Given the description of an element on the screen output the (x, y) to click on. 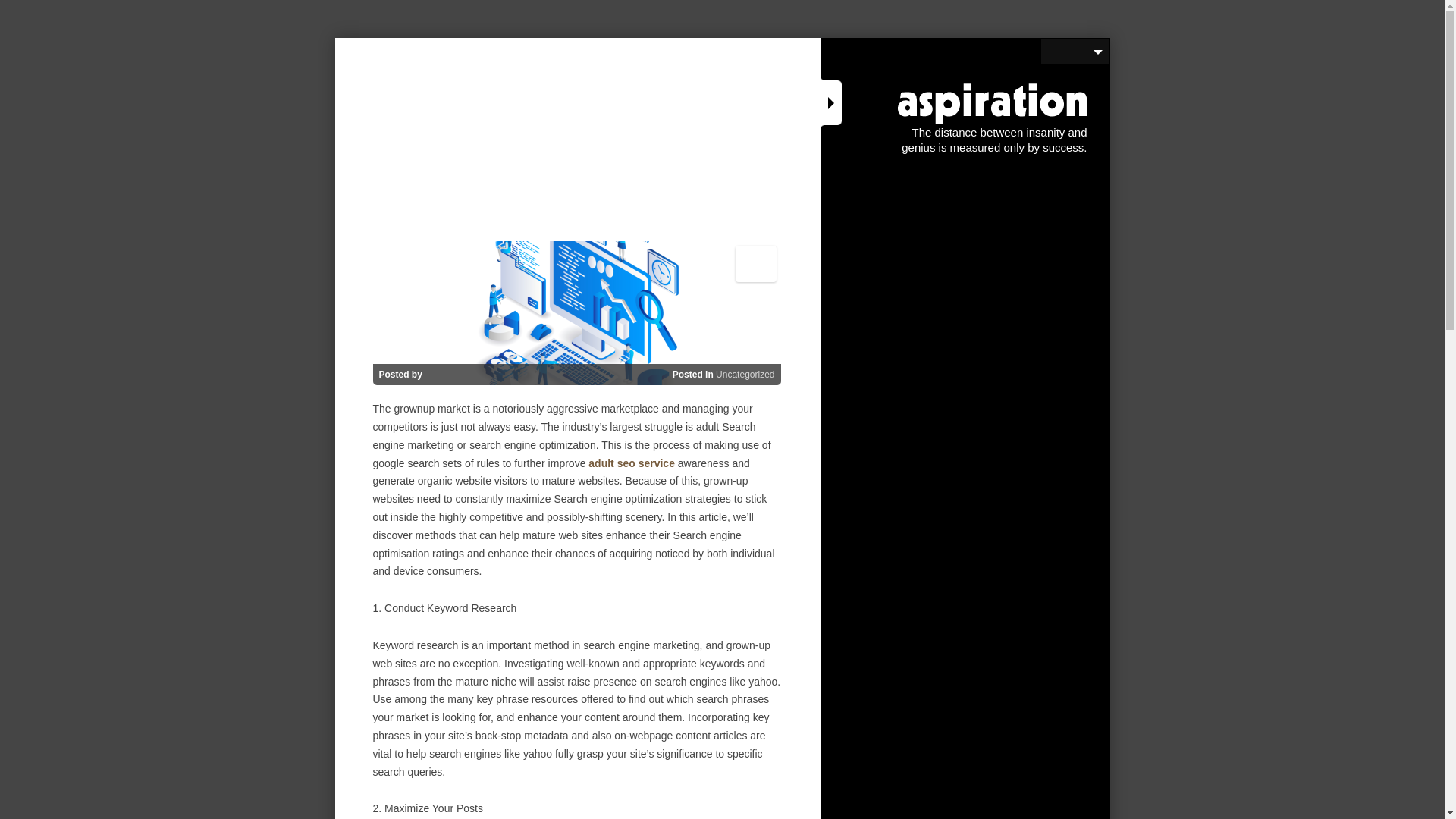
menu (1074, 51)
0 (755, 292)
Uncategorized (755, 263)
adult seo service (745, 374)
SHARE (631, 463)
